Given the description of an element on the screen output the (x, y) to click on. 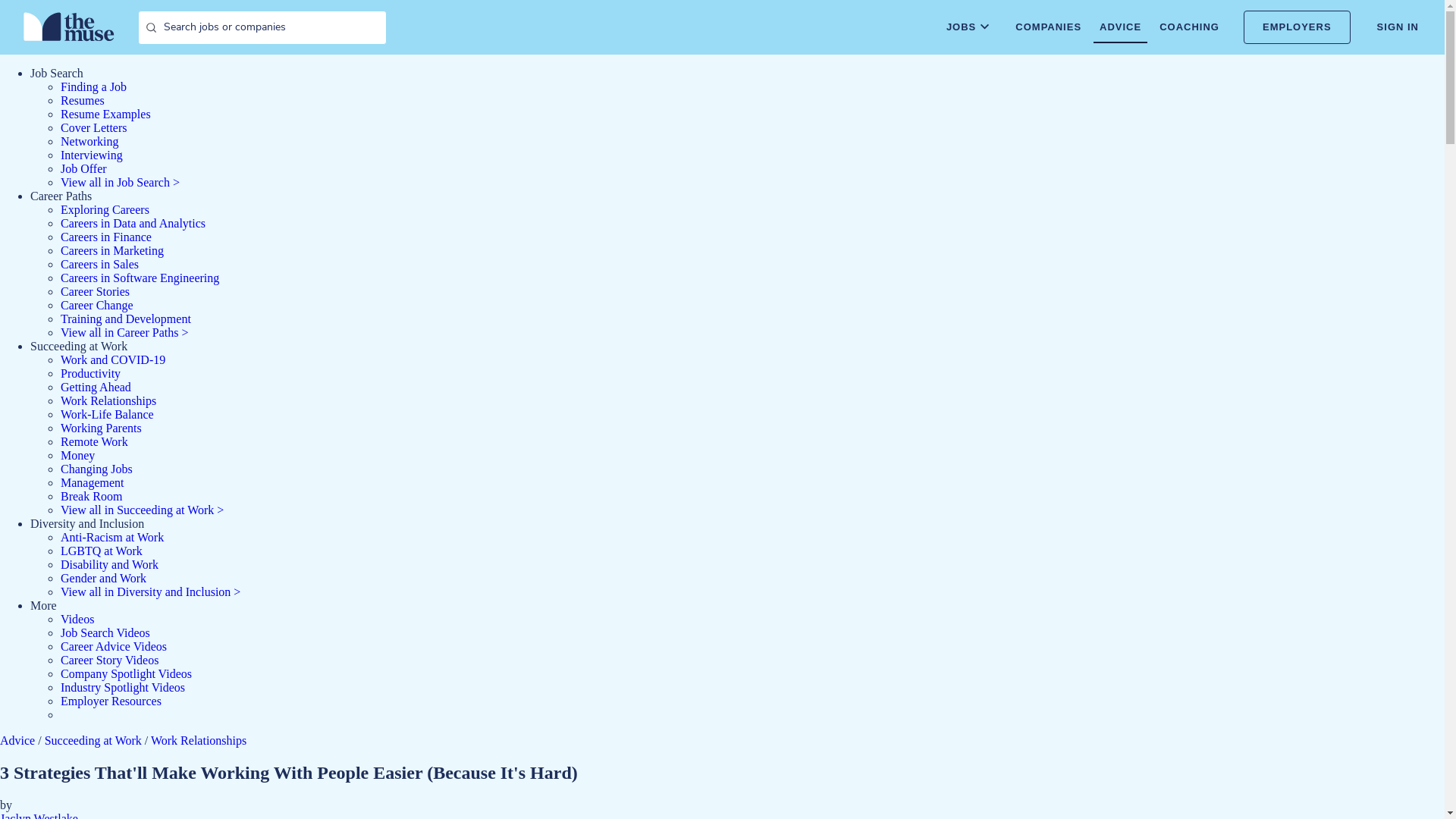
EMPLOYERS (1297, 27)
Resumes (82, 100)
ADVICE (1120, 27)
Finding a Job (93, 86)
Job Offer (83, 168)
COACHING (1189, 27)
SIGN IN (1398, 27)
Resume Examples (106, 113)
Interviewing (91, 154)
Networking (89, 141)
Cover Letters (94, 127)
COMPANIES (1048, 27)
